Given the description of an element on the screen output the (x, y) to click on. 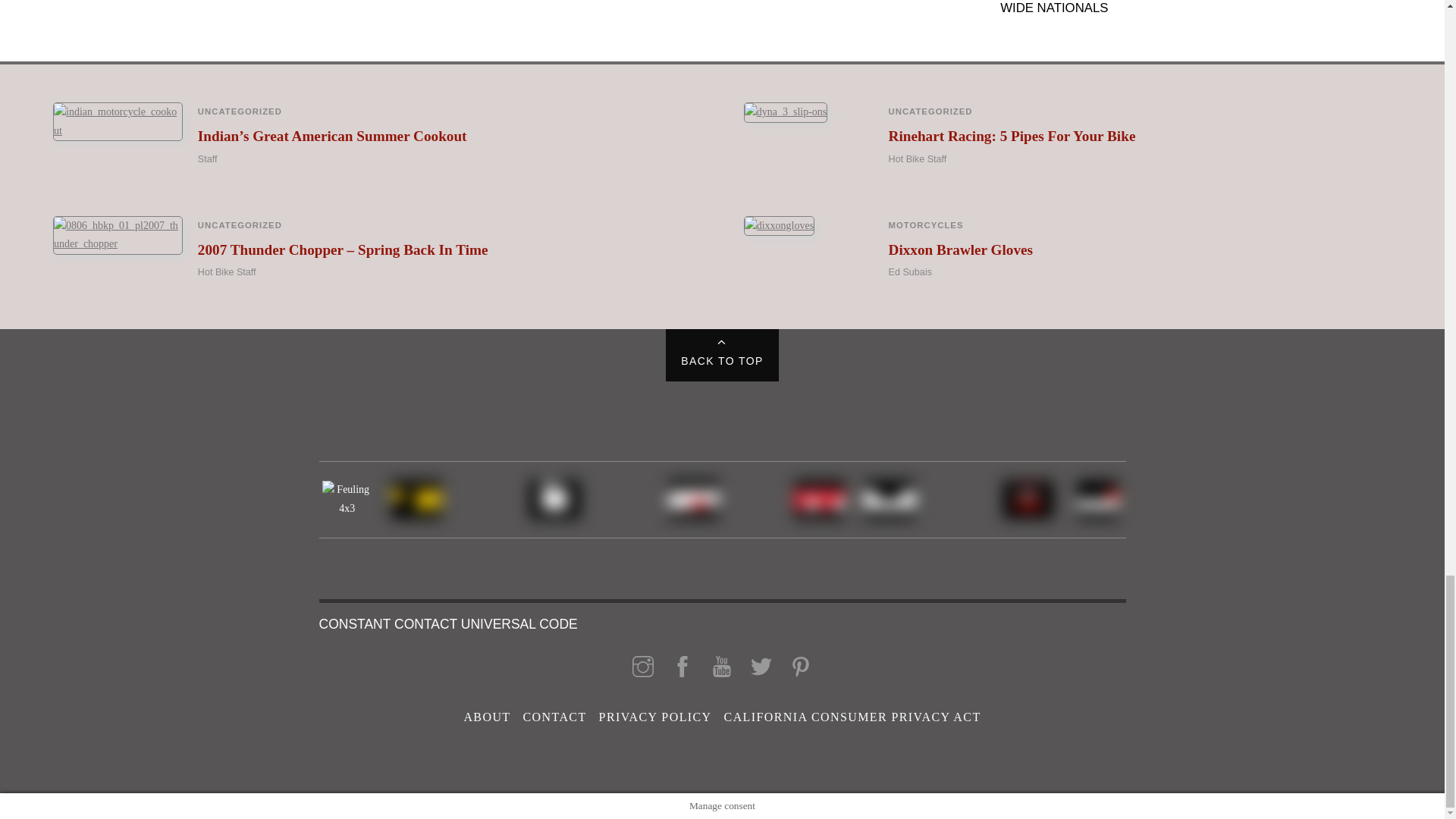
RSD-black-4x3 (554, 499)
UNCATEGORIZED (240, 111)
Staff (207, 158)
Galfer4x3 (416, 499)
Feuling 4x3 (346, 499)
dixxongloves (778, 226)
